Given the description of an element on the screen output the (x, y) to click on. 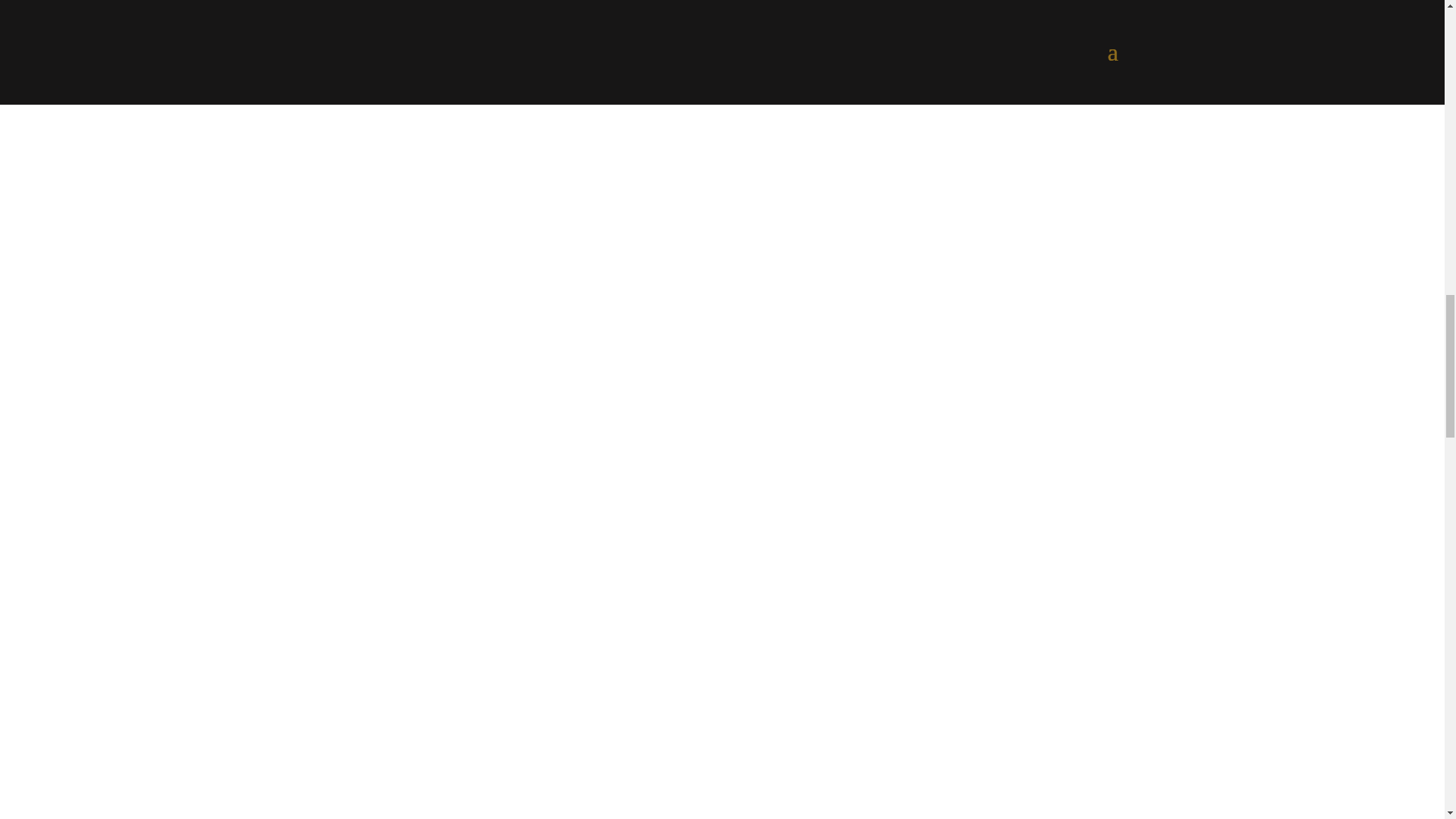
progetta-costruisci-converti (517, 121)
unione-dell-insieme (517, 667)
unione-dell-insieme (517, 379)
